Given the description of an element on the screen output the (x, y) to click on. 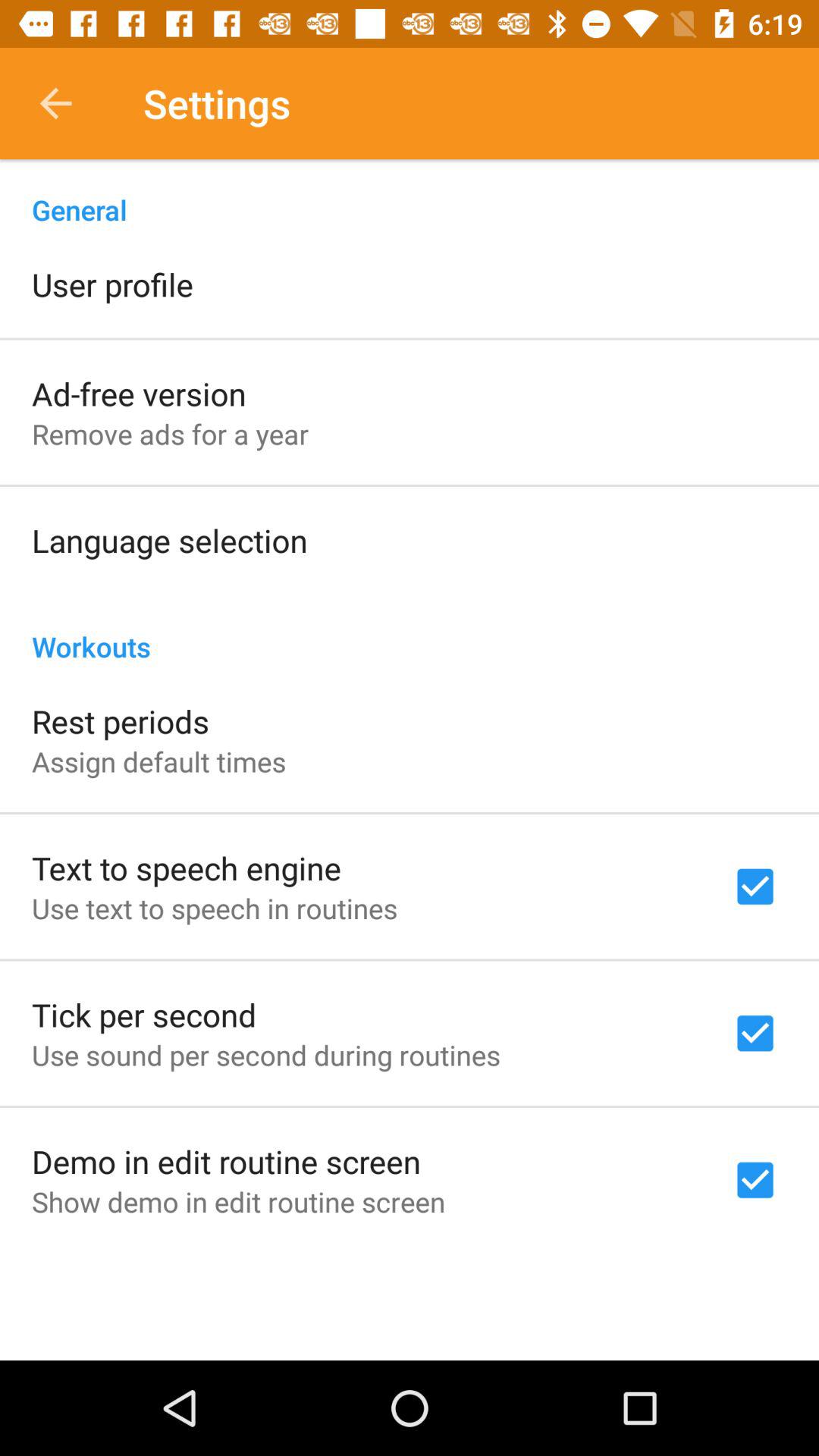
choose the item next to settings icon (55, 103)
